Given the description of an element on the screen output the (x, y) to click on. 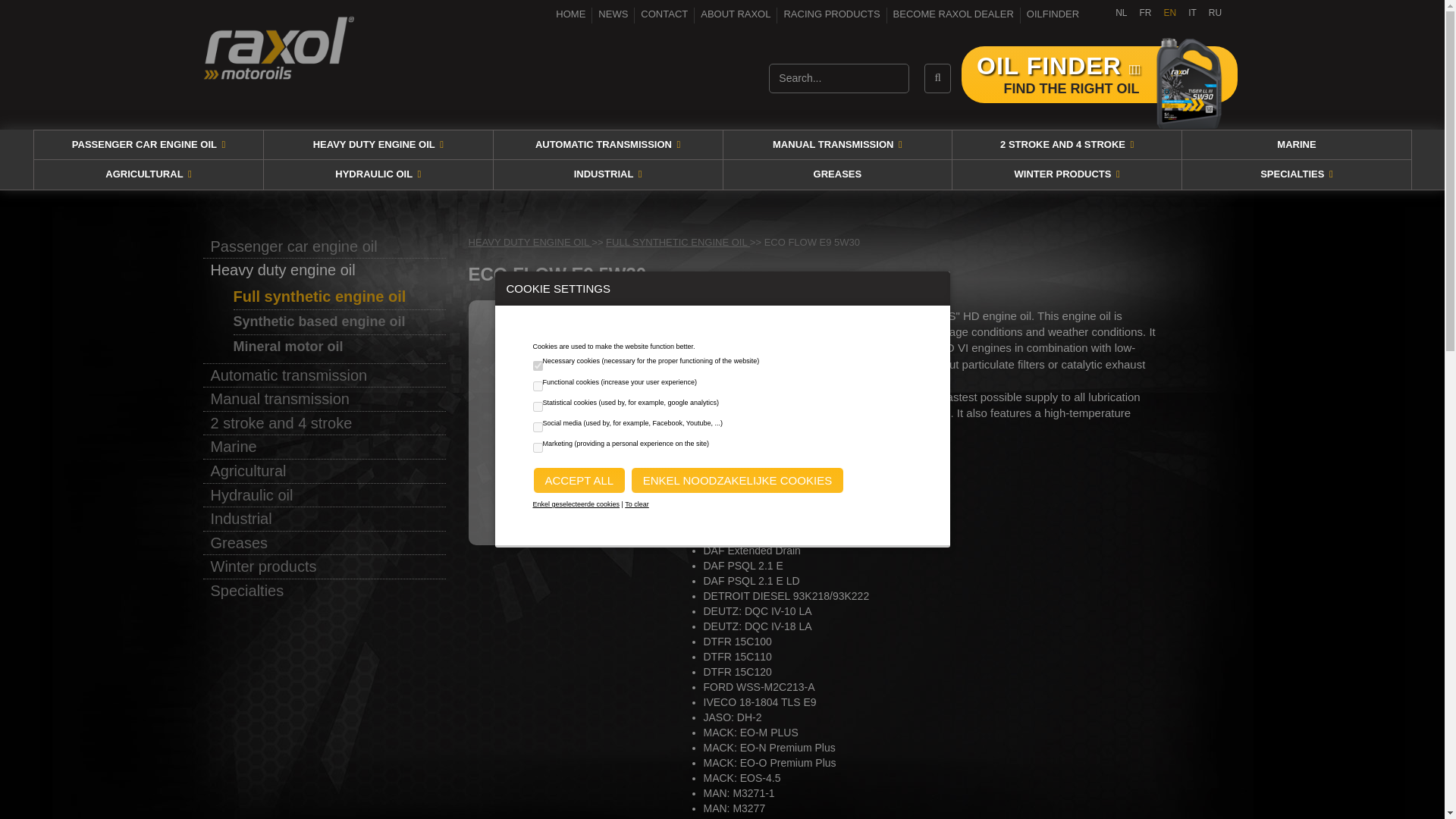
Enkel noodzakelijke cookies (737, 479)
Upwards (1353, 684)
on (536, 366)
Accept all (579, 479)
on (536, 426)
on (536, 447)
on (536, 406)
on (536, 385)
